Given the description of an element on the screen output the (x, y) to click on. 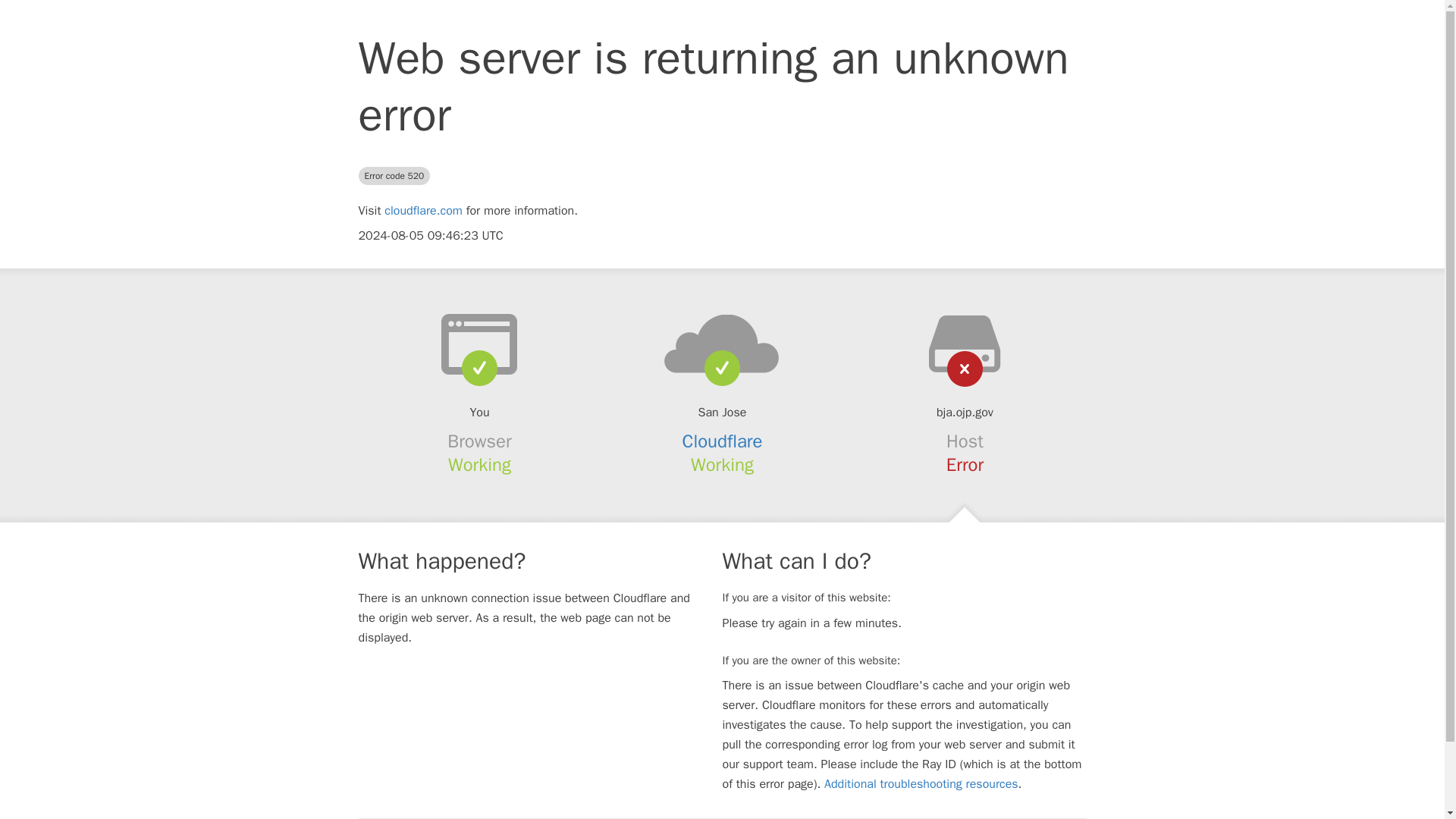
Additional troubleshooting resources (920, 783)
cloudflare.com (423, 210)
Cloudflare (722, 440)
